Given the description of an element on the screen output the (x, y) to click on. 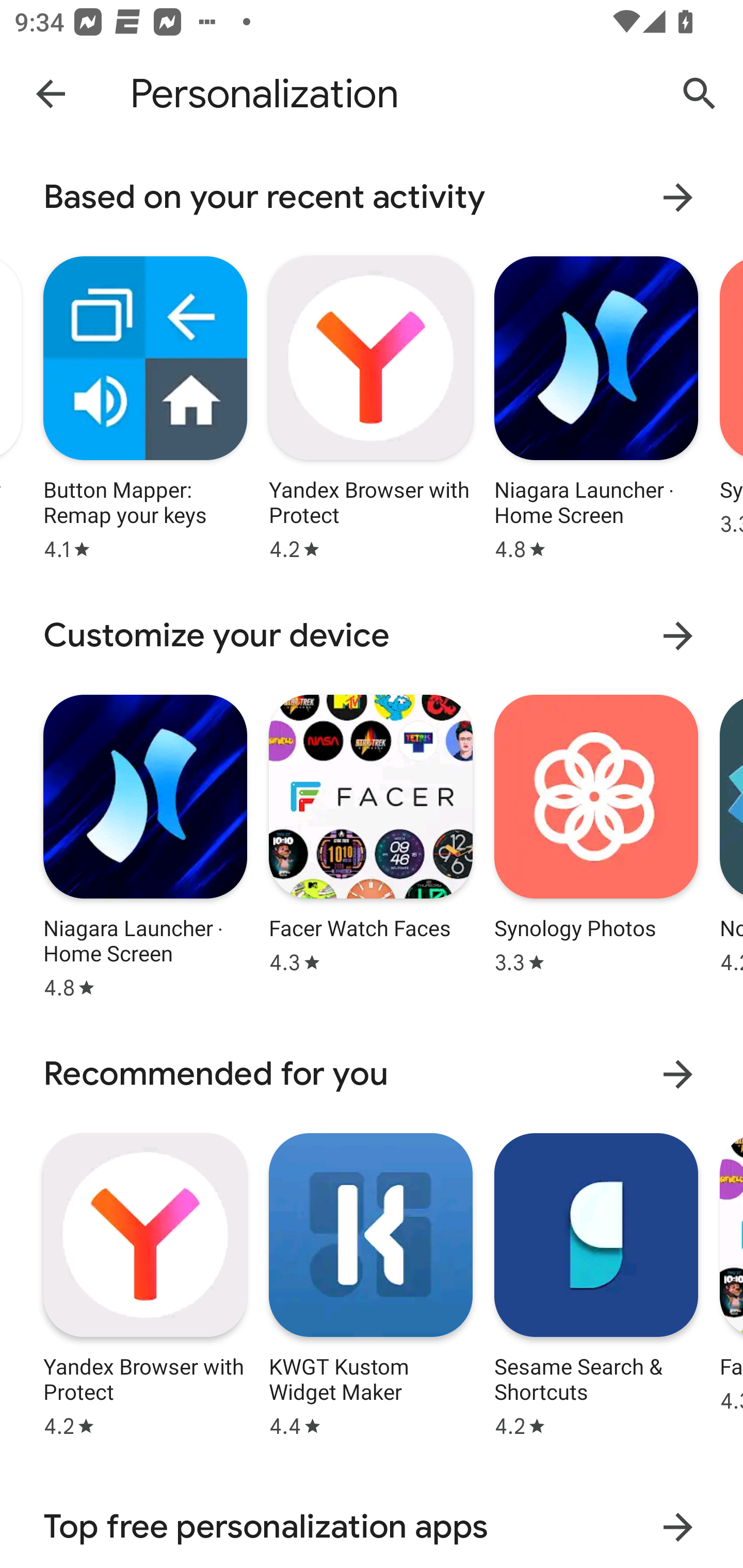
Navigate up (50, 92)
Search Google Play (699, 93)
More results for Based on your recent activity (677, 197)
More results for Customize your device (677, 635)
App: Facer Watch Faces
Star rating: 4.3


 (370, 844)
App: Synology Photos
Star rating: 3.3


 (595, 844)
More results for Recommended for you (677, 1074)
App: KWGT Kustom Widget Maker
Star rating: 4.4


 (370, 1282)
App: Sesame Search & Shortcuts
Star rating: 4.2


 (595, 1282)
More results for Top free personalization apps (677, 1527)
